Given the description of an element on the screen output the (x, y) to click on. 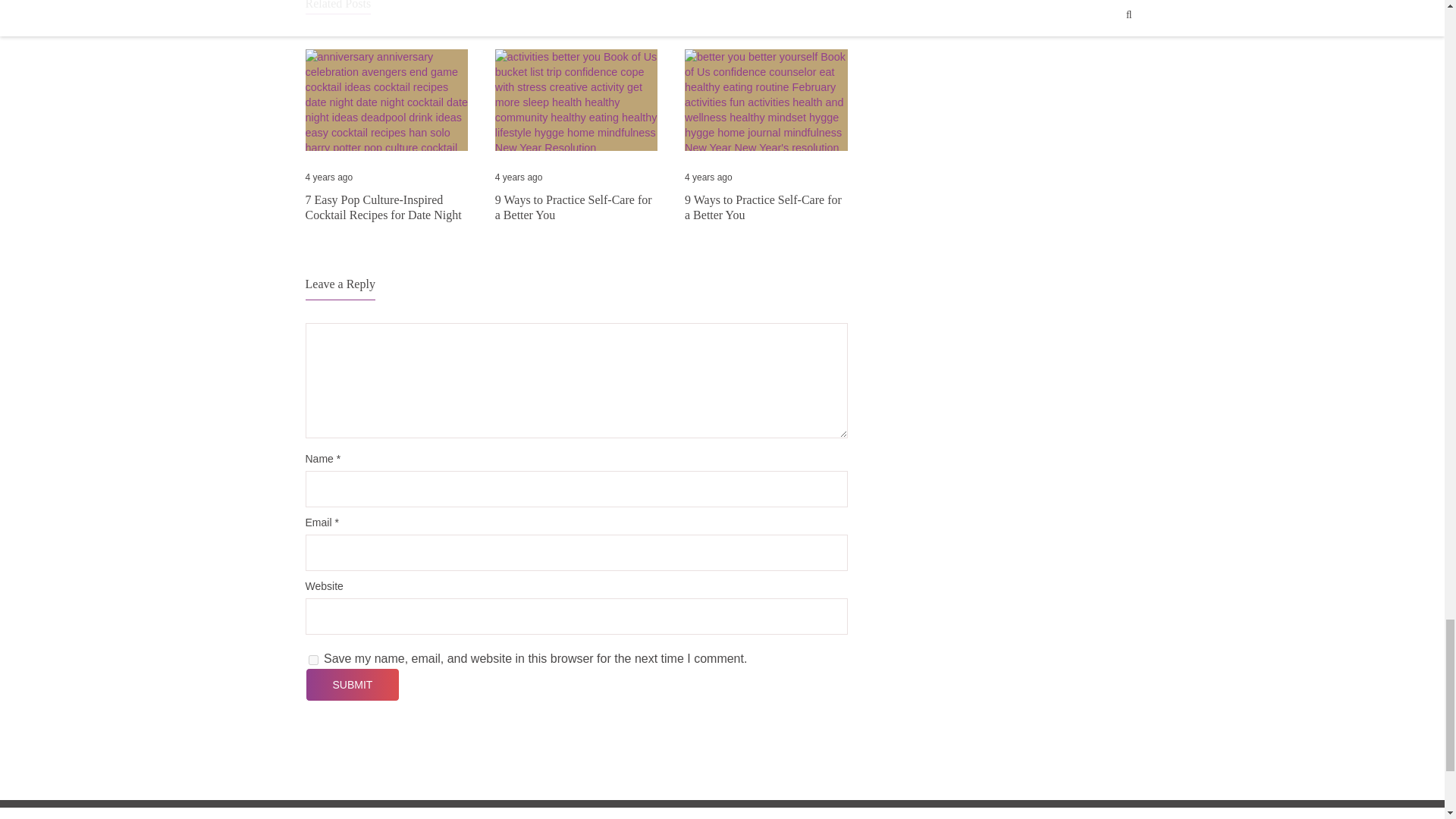
9 Ways to Practice Self-Care for a Better You (576, 208)
Submit (351, 684)
Submit (351, 684)
7 Easy Pop Culture-Inspired Cocktail Recipes for Date Night (385, 208)
yes (312, 660)
9 Ways to Practice Self-Care for a Better You (765, 208)
